Given the description of an element on the screen output the (x, y) to click on. 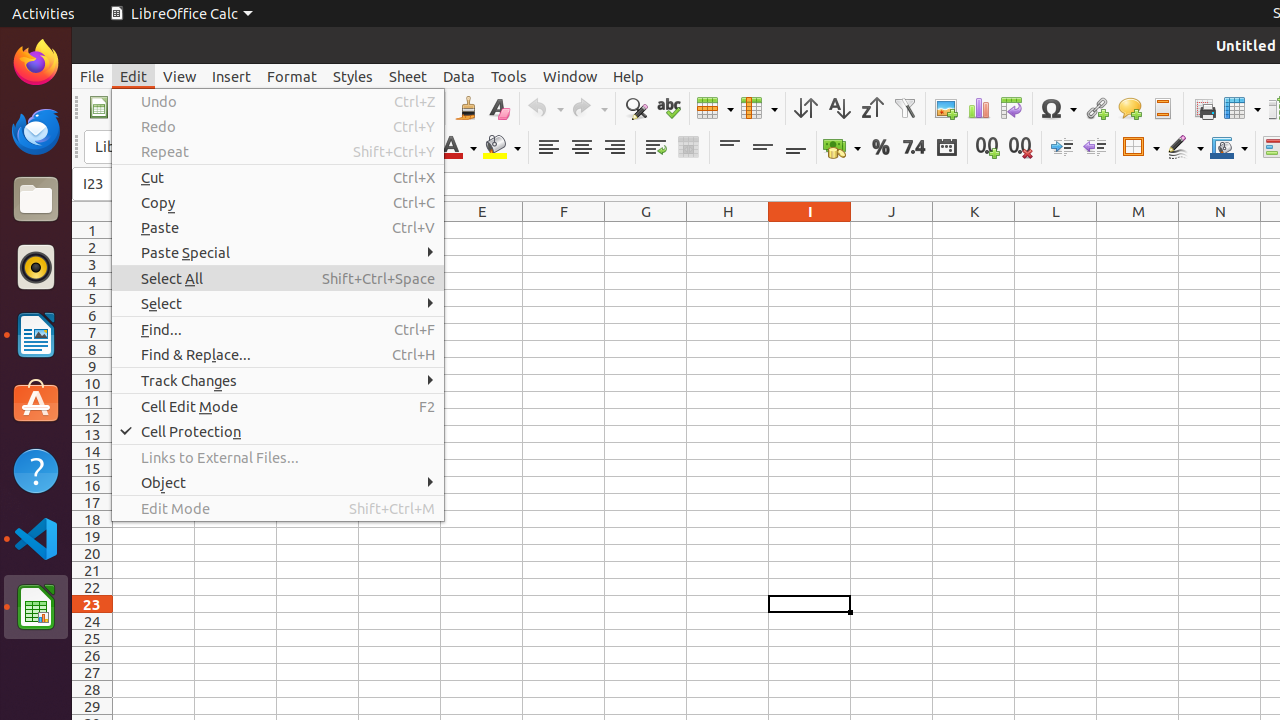
Cut Element type: menu-item (278, 177)
Border Style Element type: push-button (1185, 147)
Align Center Element type: push-button (581, 147)
Format Element type: menu (292, 76)
Spelling Element type: push-button (668, 108)
